Given the description of an element on the screen output the (x, y) to click on. 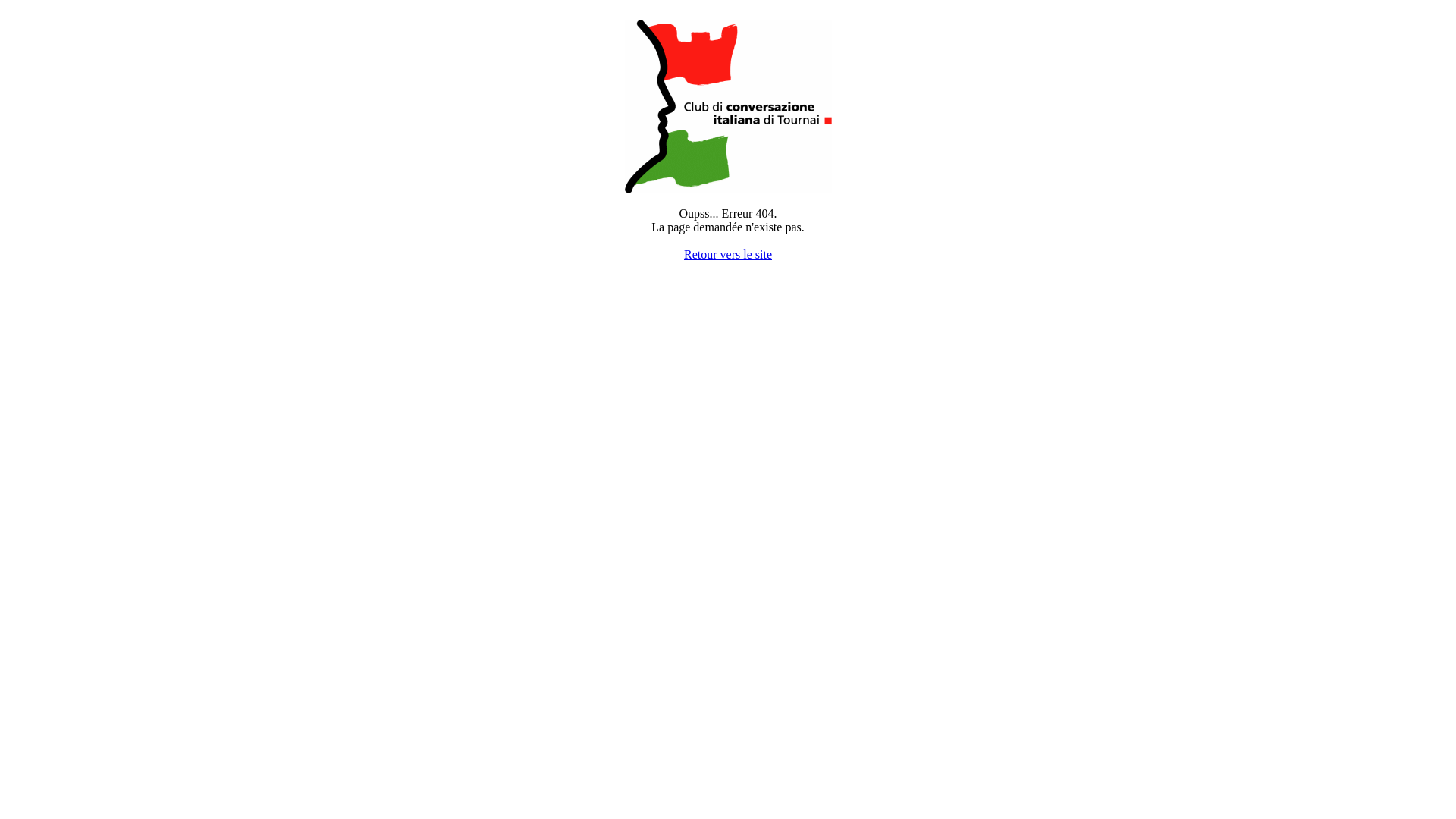
Retour vers le site Element type: text (727, 253)
